Given the description of an element on the screen output the (x, y) to click on. 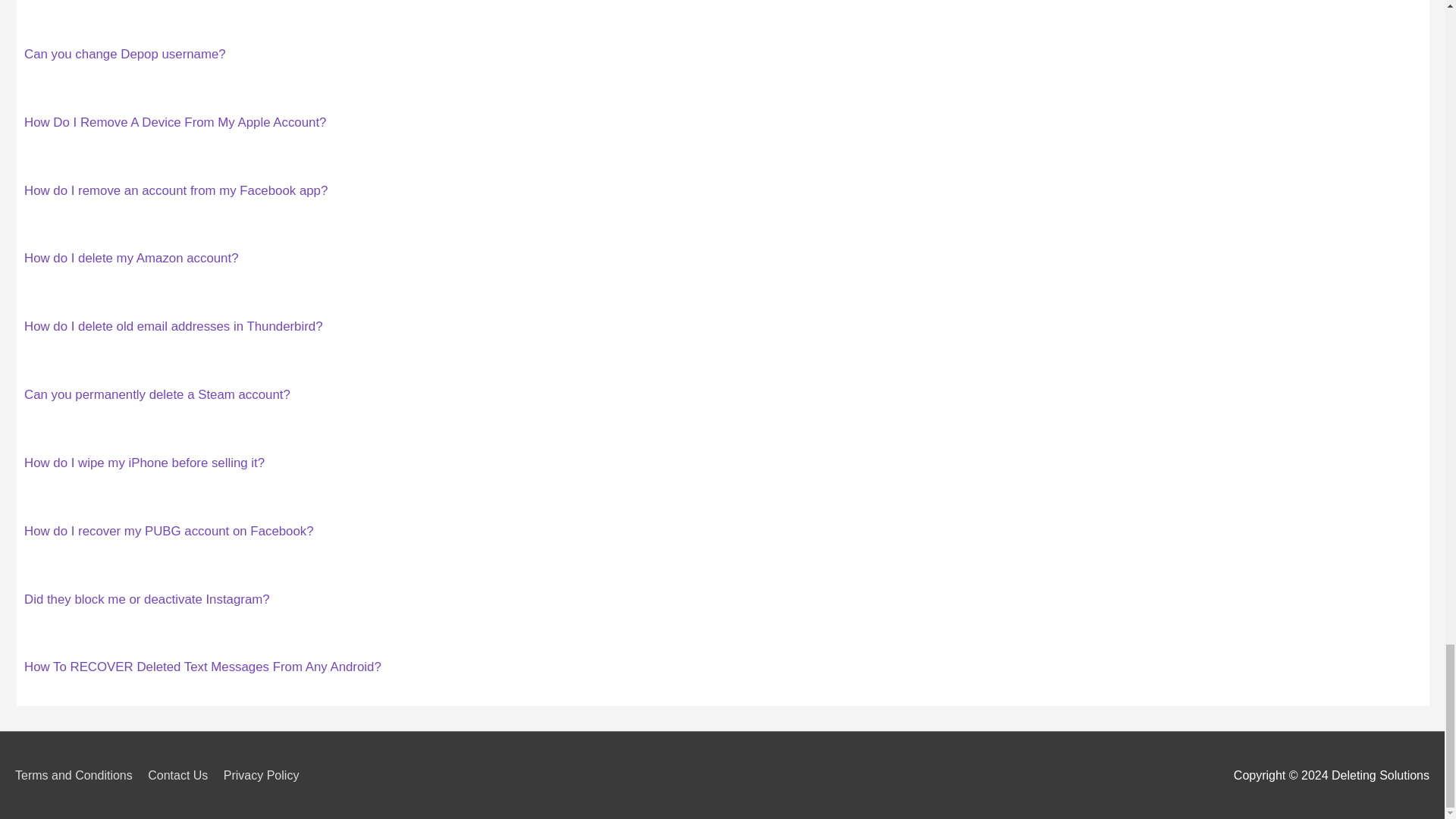
Privacy Policy (267, 775)
How do I delete old email addresses in Thunderbird? (173, 326)
How To RECOVER Deleted Text Messages From Any Android? (202, 667)
How do I delete my Amazon account? (131, 257)
Can you change Depop username? (124, 53)
Terms and Conditions (79, 775)
Did they block me or deactivate Instagram? (146, 599)
How do I recover my PUBG account on Facebook? (169, 531)
How do I remove an account from my Facebook app? (175, 190)
How Do I Remove A Device From My Apple Account? (175, 122)
